Given the description of an element on the screen output the (x, y) to click on. 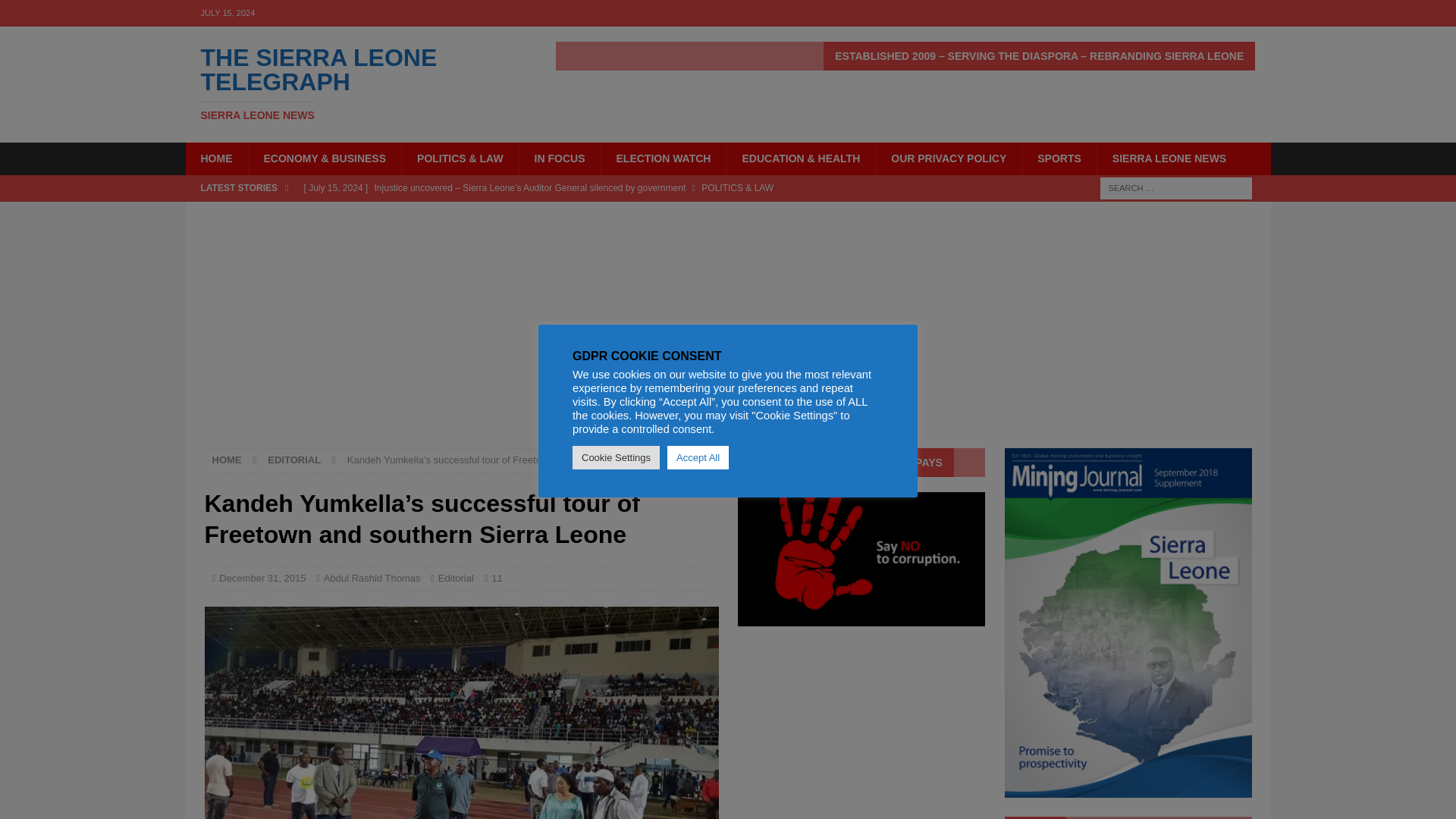
Editorial (456, 577)
OUR PRIVACY POLICY (948, 158)
ELECTION WATCH (662, 158)
11 (497, 577)
HOME (226, 460)
December 31, 2015 (262, 577)
IN FOCUS (558, 158)
SPORTS (1059, 158)
Search (56, 11)
EDITORIAL (293, 460)
Abdul Rashid Thomas (356, 83)
Kandeh Yumkella salone tour 20151 (371, 577)
HOME (462, 712)
